Given the description of an element on the screen output the (x, y) to click on. 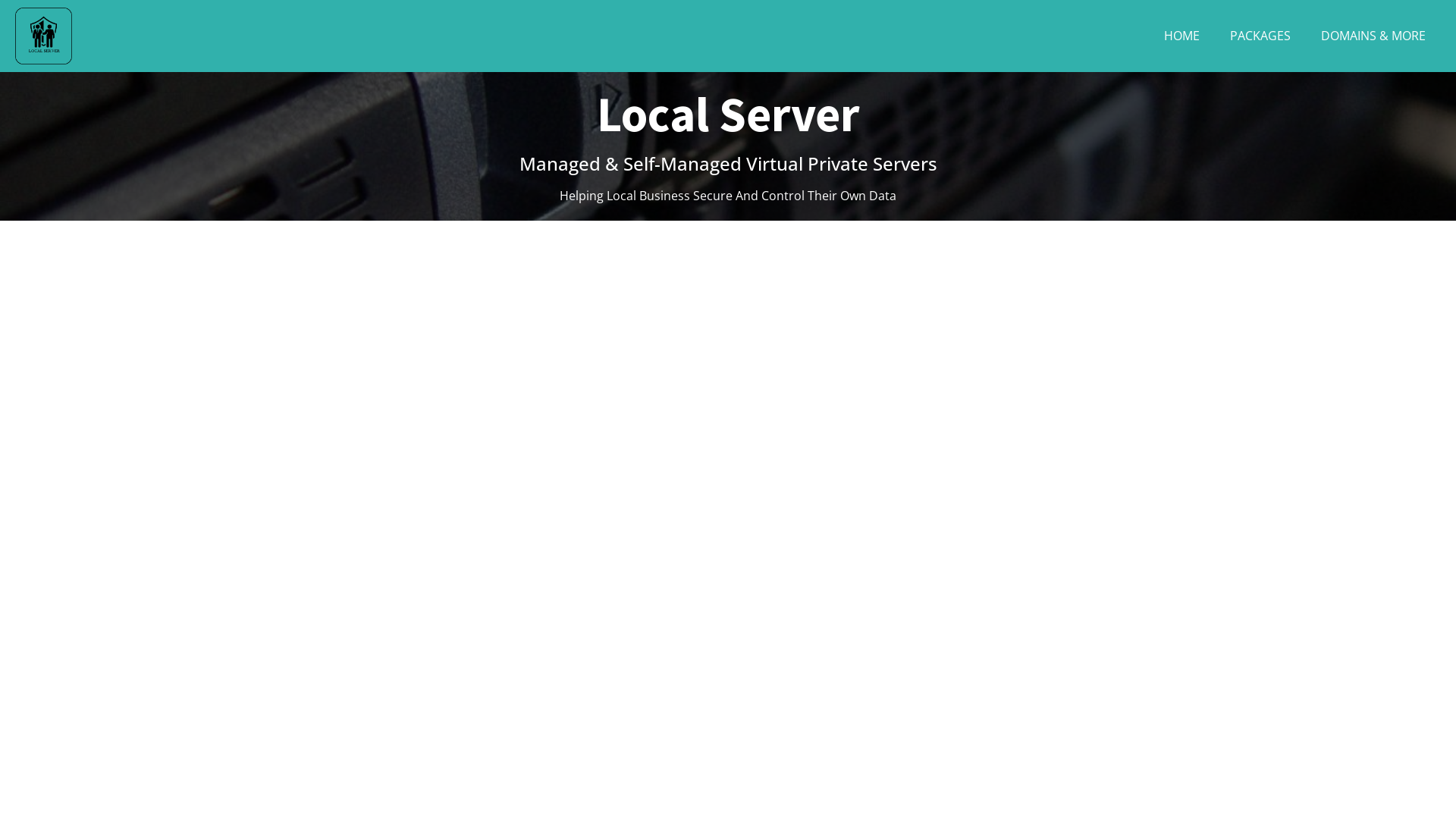
DOMAINS & MORE Element type: text (1372, 36)
HOME Element type: text (1181, 36)
PACKAGES Element type: text (1259, 36)
